Given the description of an element on the screen output the (x, y) to click on. 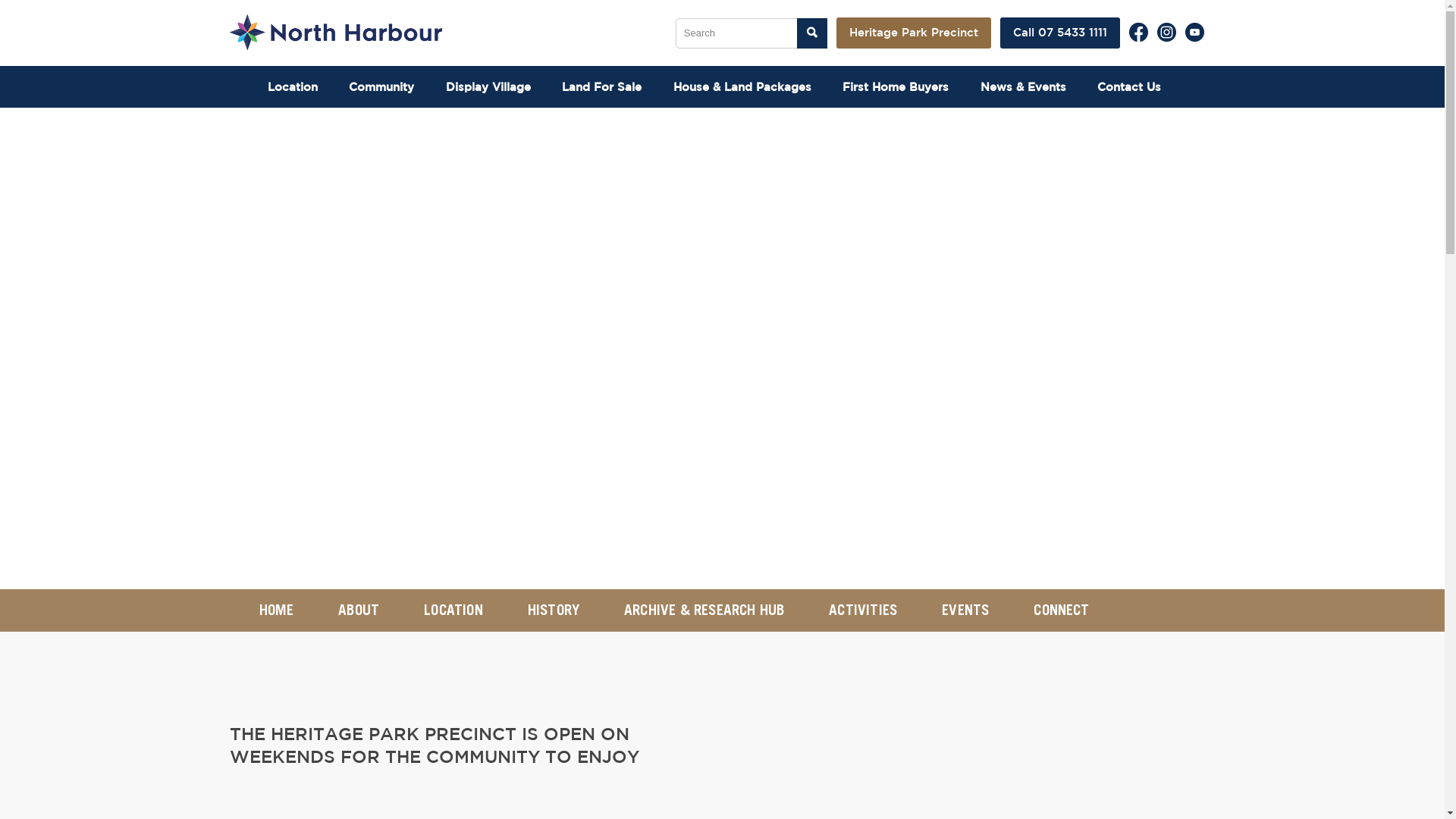
News & Events Element type: text (1031, 87)
First Home Buyers Element type: text (903, 87)
Contact Us Element type: text (1137, 87)
HOME Element type: text (275, 609)
Land For Sale Element type: text (610, 87)
ACTIVITIES Element type: text (862, 609)
HISTORY Element type: text (553, 609)
House & Land Packages Element type: text (749, 87)
Community Element type: text (389, 87)
EVENTS Element type: text (965, 609)
LOCATION Element type: text (453, 609)
CONNECT Element type: text (1061, 609)
ABOUT Element type: text (358, 609)
Display Village Element type: text (495, 87)
ARCHIVE & RESEARCH HUB Element type: text (703, 609)
Call 07 5433 1111 Element type: text (1060, 32)
Location Element type: text (300, 87)
Heritage Park Precinct Element type: text (913, 32)
